Given the description of an element on the screen output the (x, y) to click on. 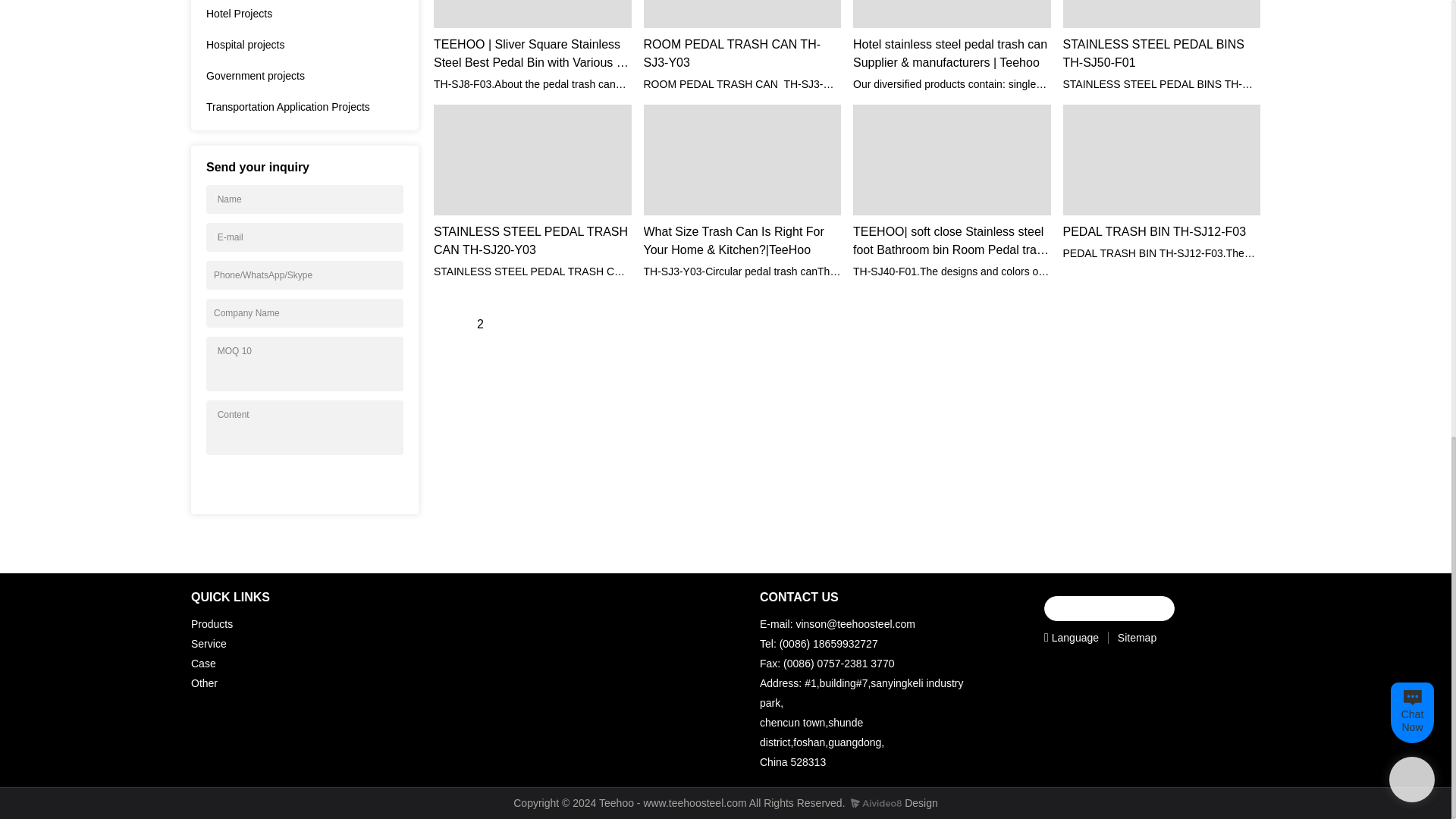
ROOM PEDAL TRASH CAN  TH-SJ3-Y03 (742, 54)
